Given the description of an element on the screen output the (x, y) to click on. 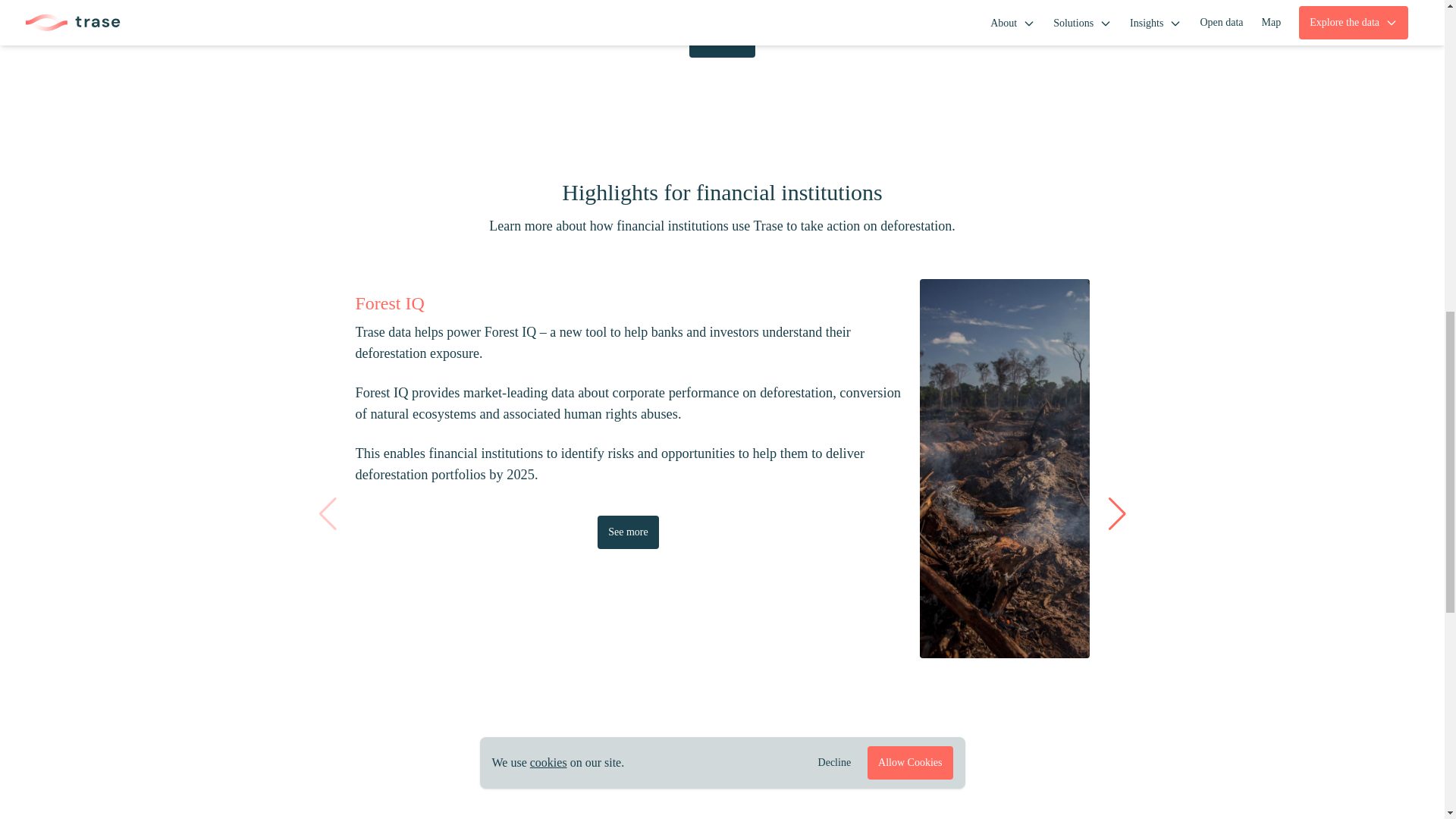
See more (627, 531)
Contact us (721, 40)
See more (1376, 738)
